Given the description of an element on the screen output the (x, y) to click on. 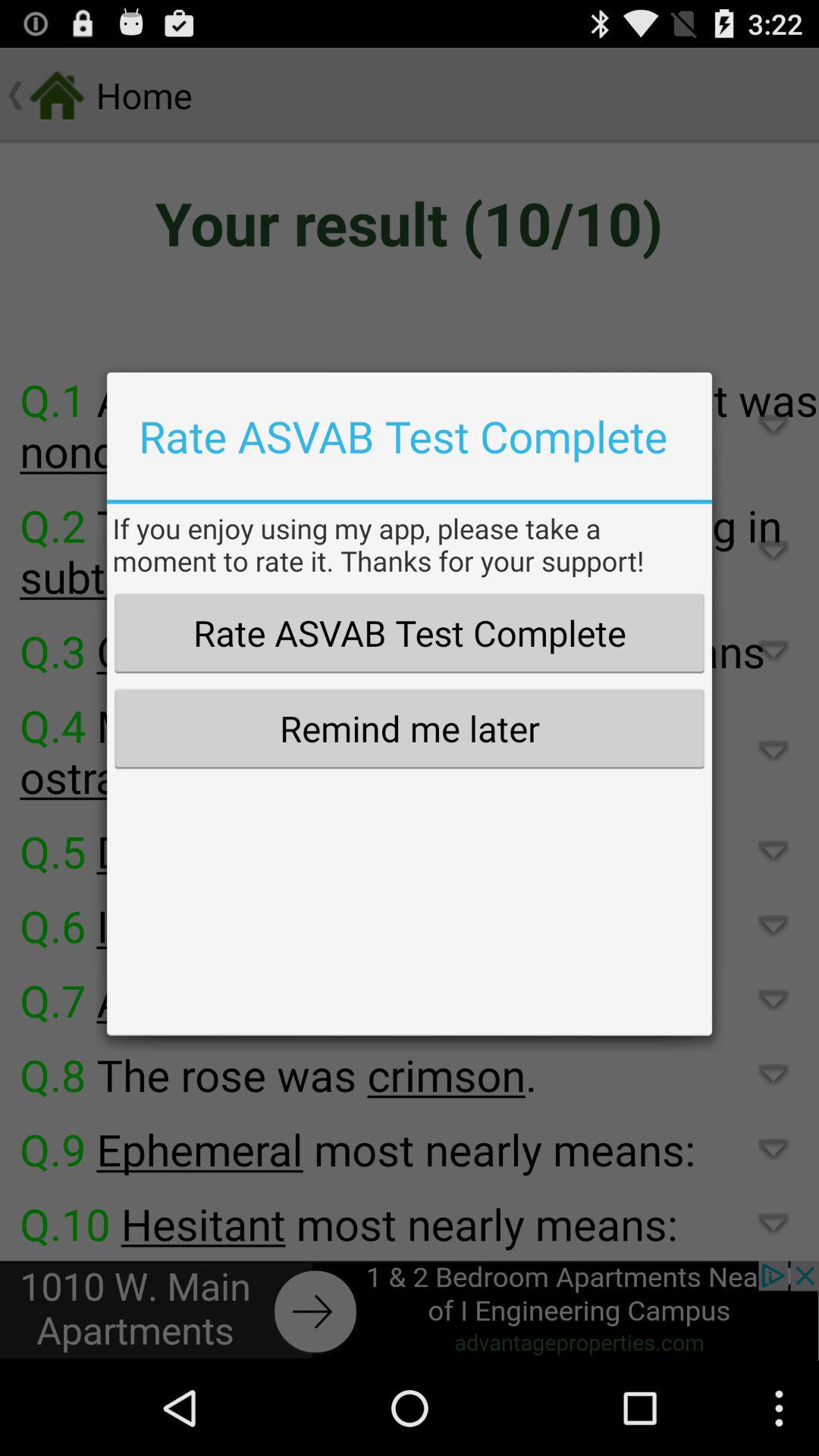
turn off the remind me later item (409, 728)
